Given the description of an element on the screen output the (x, y) to click on. 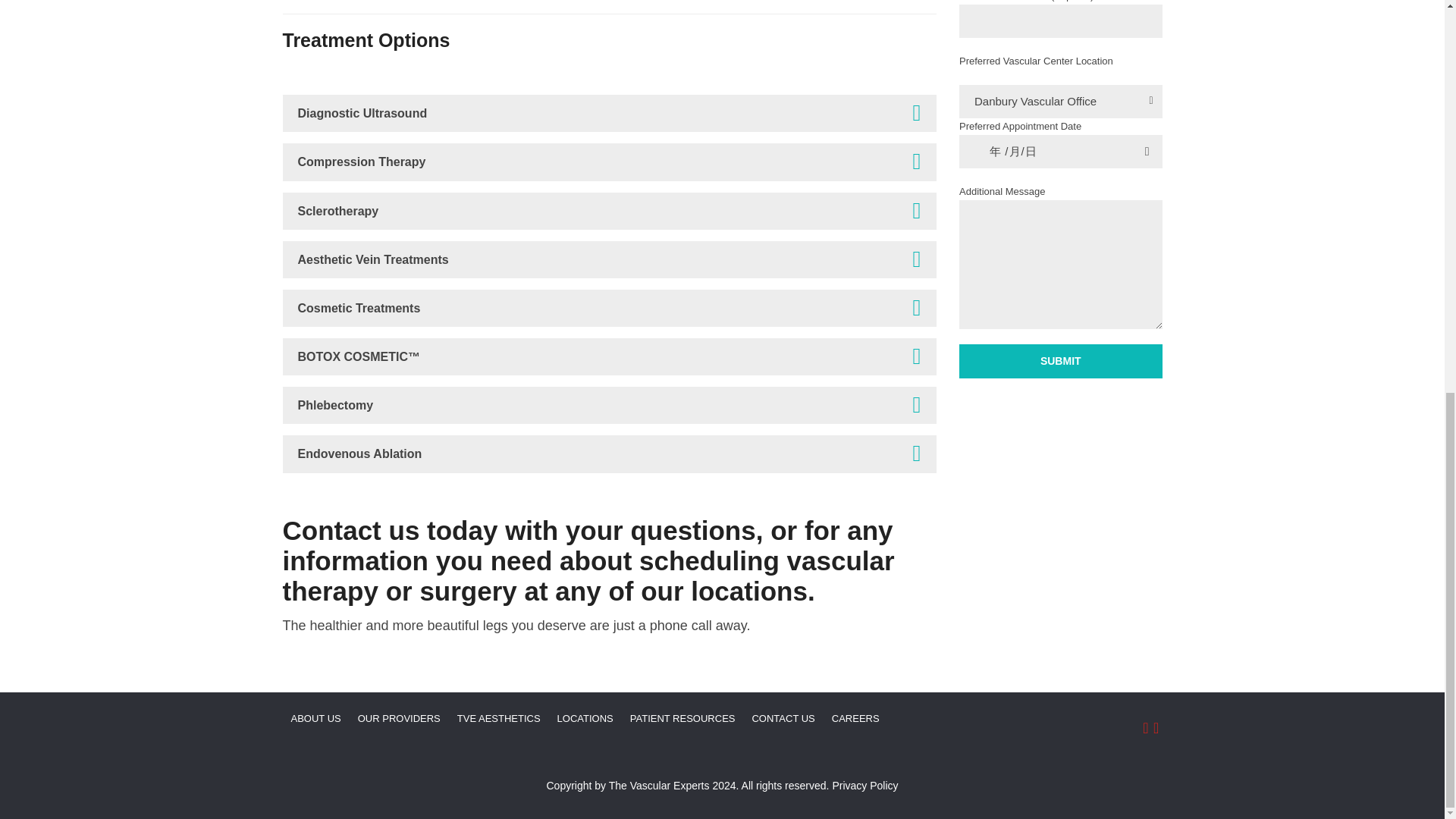
Submit (1060, 360)
